Given the description of an element on the screen output the (x, y) to click on. 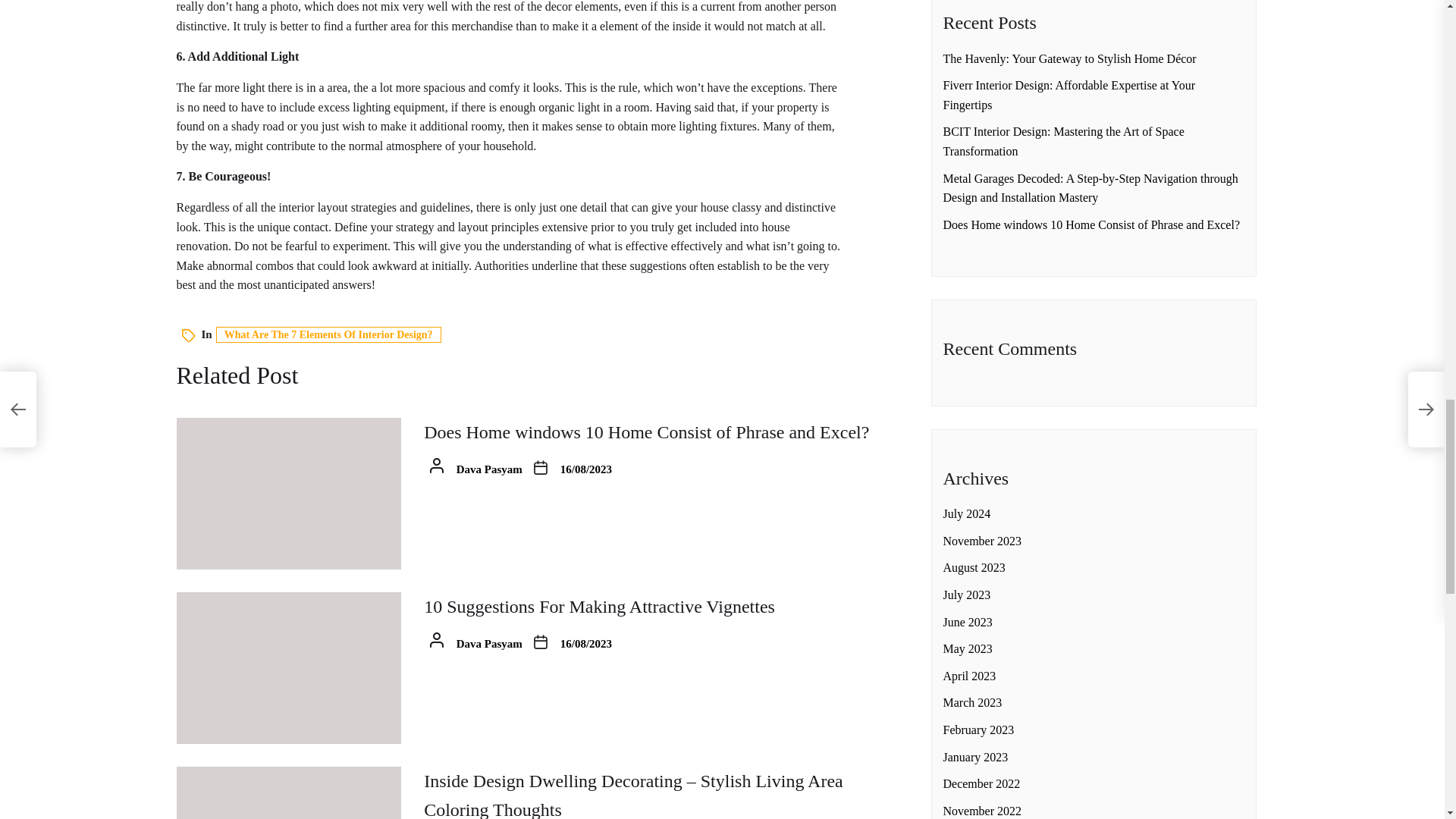
Seedbacklink (1018, 315)
